Given the description of an element on the screen output the (x, y) to click on. 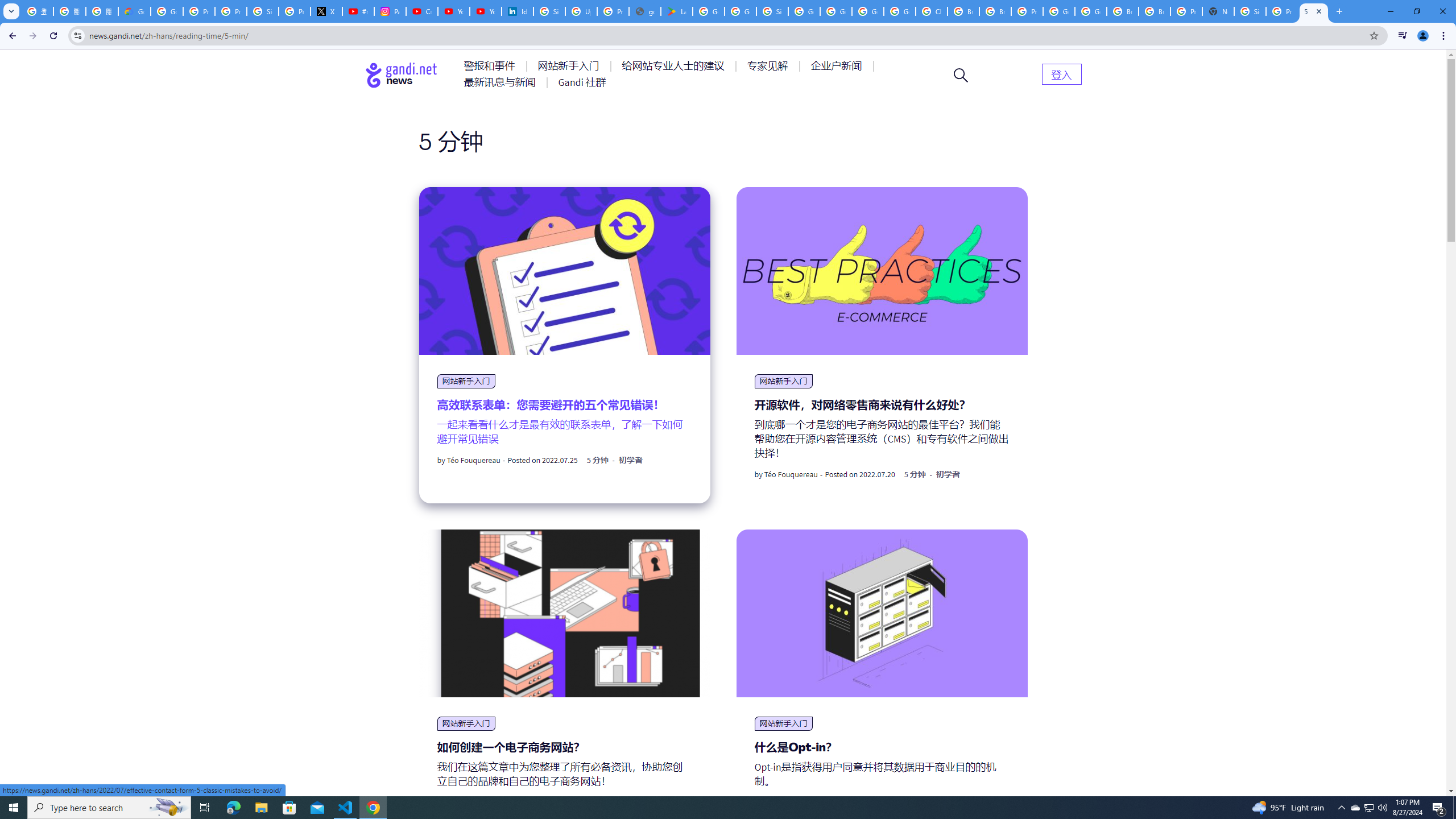
Privacy Help Center - Policies Help (198, 11)
View site information (77, 35)
Bookmark this tab (1373, 35)
Identity verification via Persona | LinkedIn Help (517, 11)
Reload (52, 35)
Minimize (1390, 11)
Go to home (401, 75)
System (6, 6)
